Given the description of an element on the screen output the (x, y) to click on. 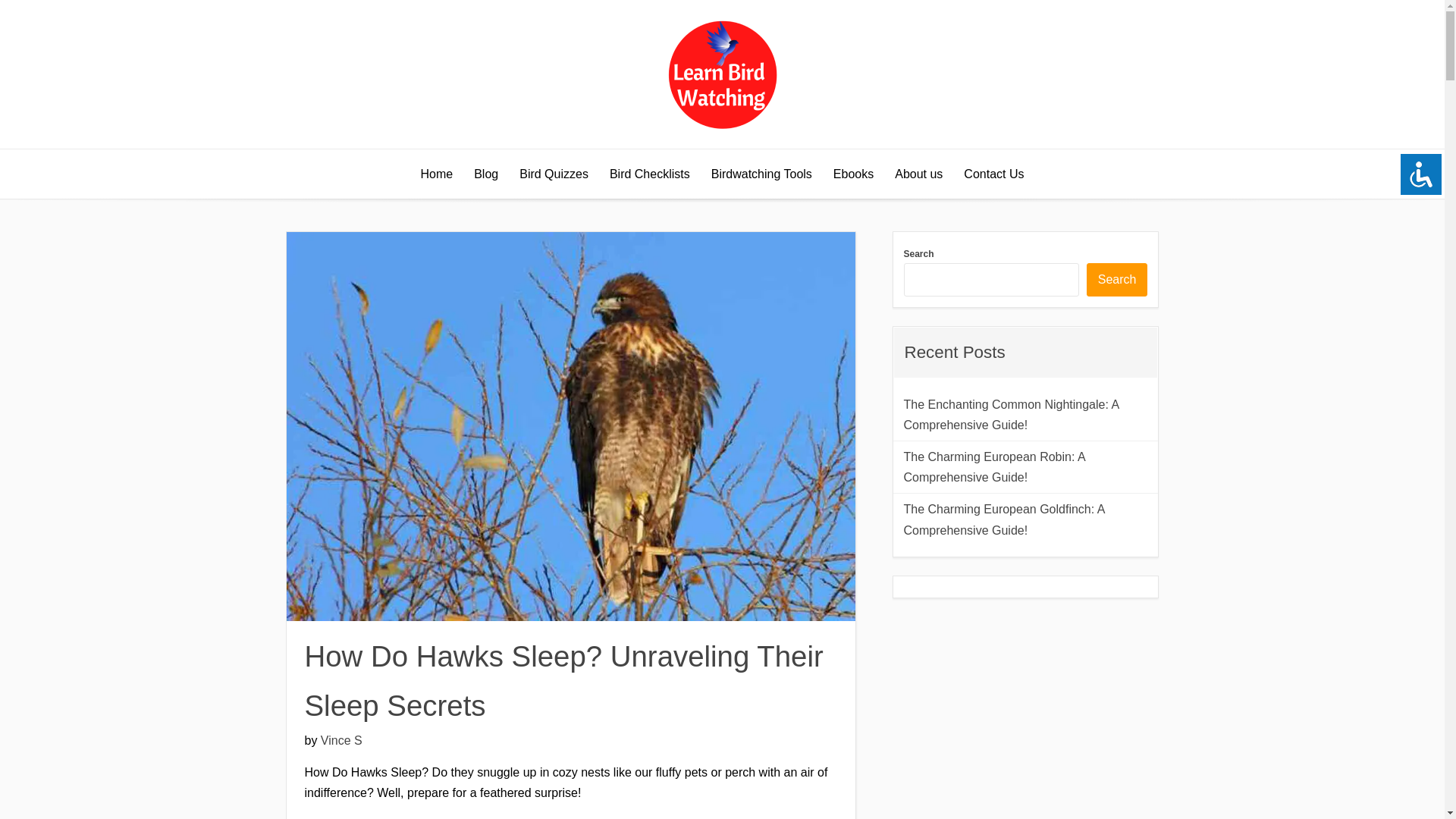
Birdwatching Tools (761, 174)
Ebooks (852, 174)
Bird Checklists (649, 174)
Blog (485, 174)
About us (918, 174)
Vince S (341, 739)
Home (436, 174)
Bird Quizzes (553, 174)
Contact Us (993, 174)
